Given the description of an element on the screen output the (x, y) to click on. 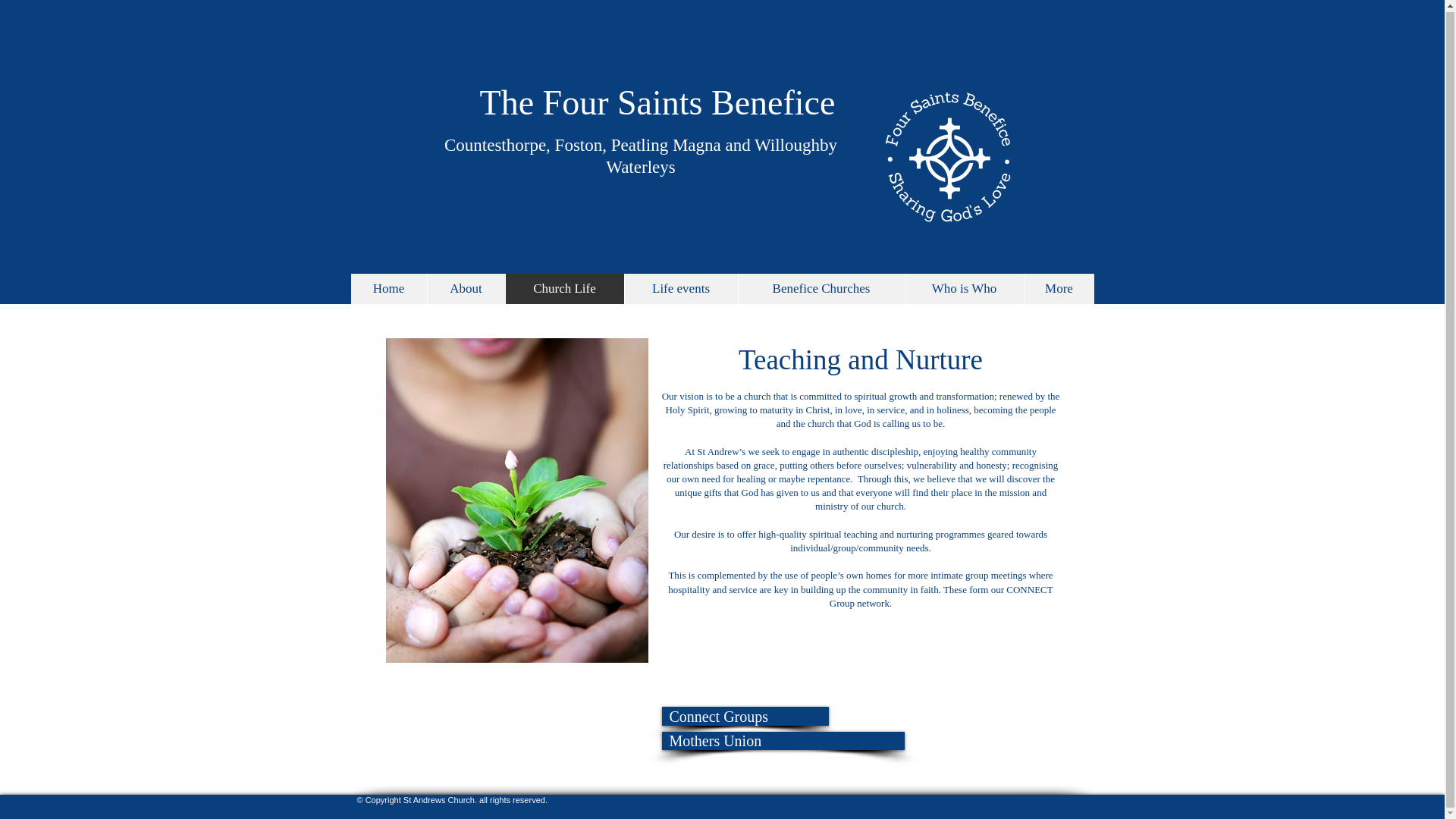
Mothers Union (782, 741)
Life events (679, 288)
Four Saints Logo - White.png (948, 156)
Benefice Churches (820, 288)
Who is Who (963, 288)
Home (388, 288)
Church Life (564, 288)
Connect Groups (744, 715)
About (464, 288)
